Given the description of an element on the screen output the (x, y) to click on. 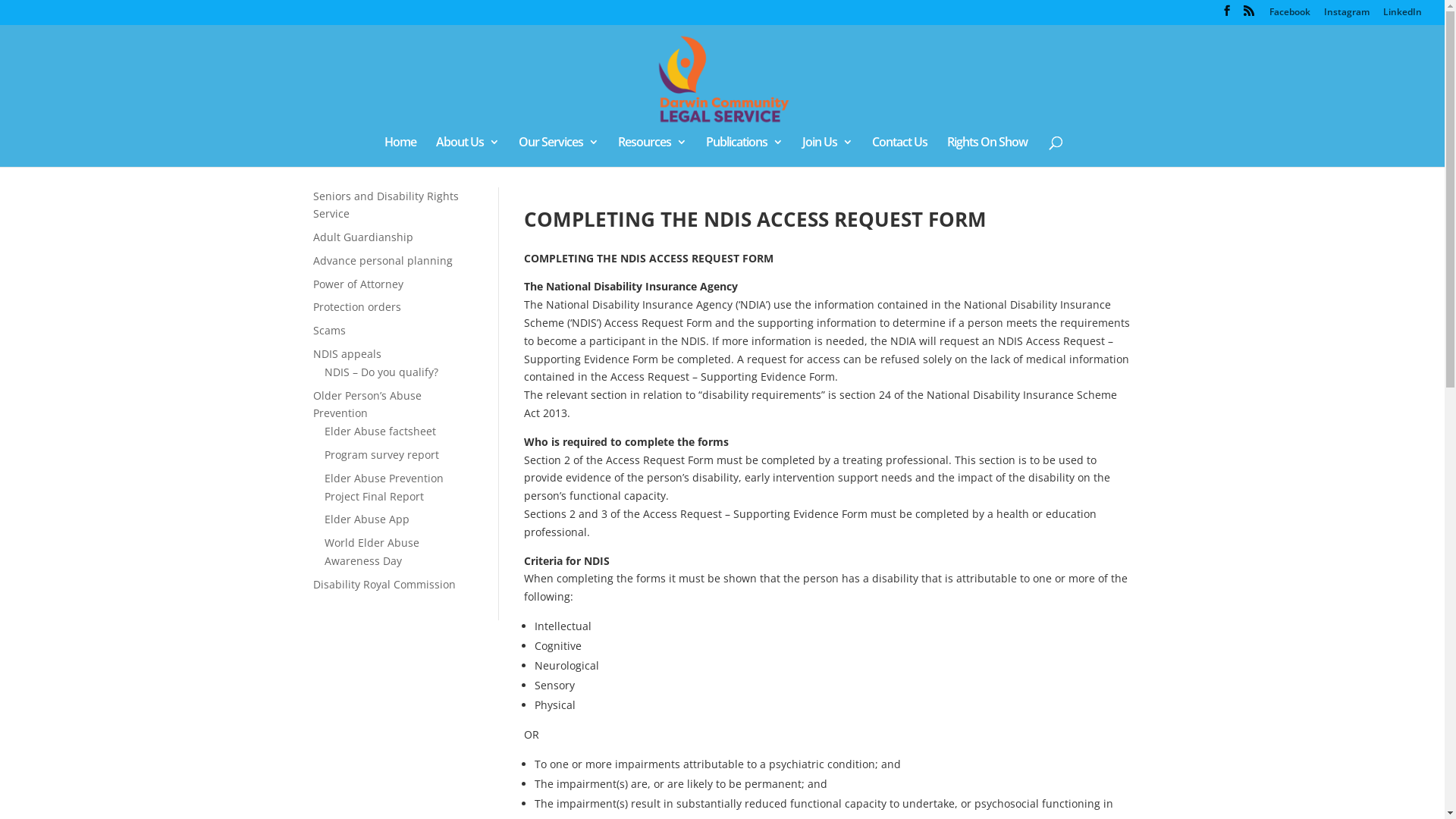
Join Us Element type: text (827, 151)
LinkedIn Element type: text (1402, 15)
Our Services Element type: text (558, 151)
Home Element type: text (399, 151)
Adult Guardianship Element type: text (362, 236)
Scams Element type: text (328, 330)
Rights On Show Element type: text (986, 151)
Facebook Element type: text (1289, 15)
Elder Abuse factsheet Element type: text (380, 430)
Elder Abuse Prevention Project Final Report Element type: text (383, 486)
Contact Us Element type: text (899, 151)
Open toolbar Element type: text (19, 95)
About Us Element type: text (466, 151)
Disability Royal Commission Element type: text (383, 584)
Protection orders Element type: text (356, 306)
Publications Element type: text (743, 151)
Instagram Element type: text (1346, 15)
NDIS appeals Element type: text (346, 353)
Seniors and Disability Rights Service Element type: text (385, 204)
Elder Abuse App Element type: text (366, 518)
Advance personal planning Element type: text (381, 260)
Resources Element type: text (651, 151)
Power of Attorney Element type: text (357, 283)
World Elder Abuse Awareness Day Element type: text (371, 551)
Program survey report Element type: text (381, 454)
